Given the description of an element on the screen output the (x, y) to click on. 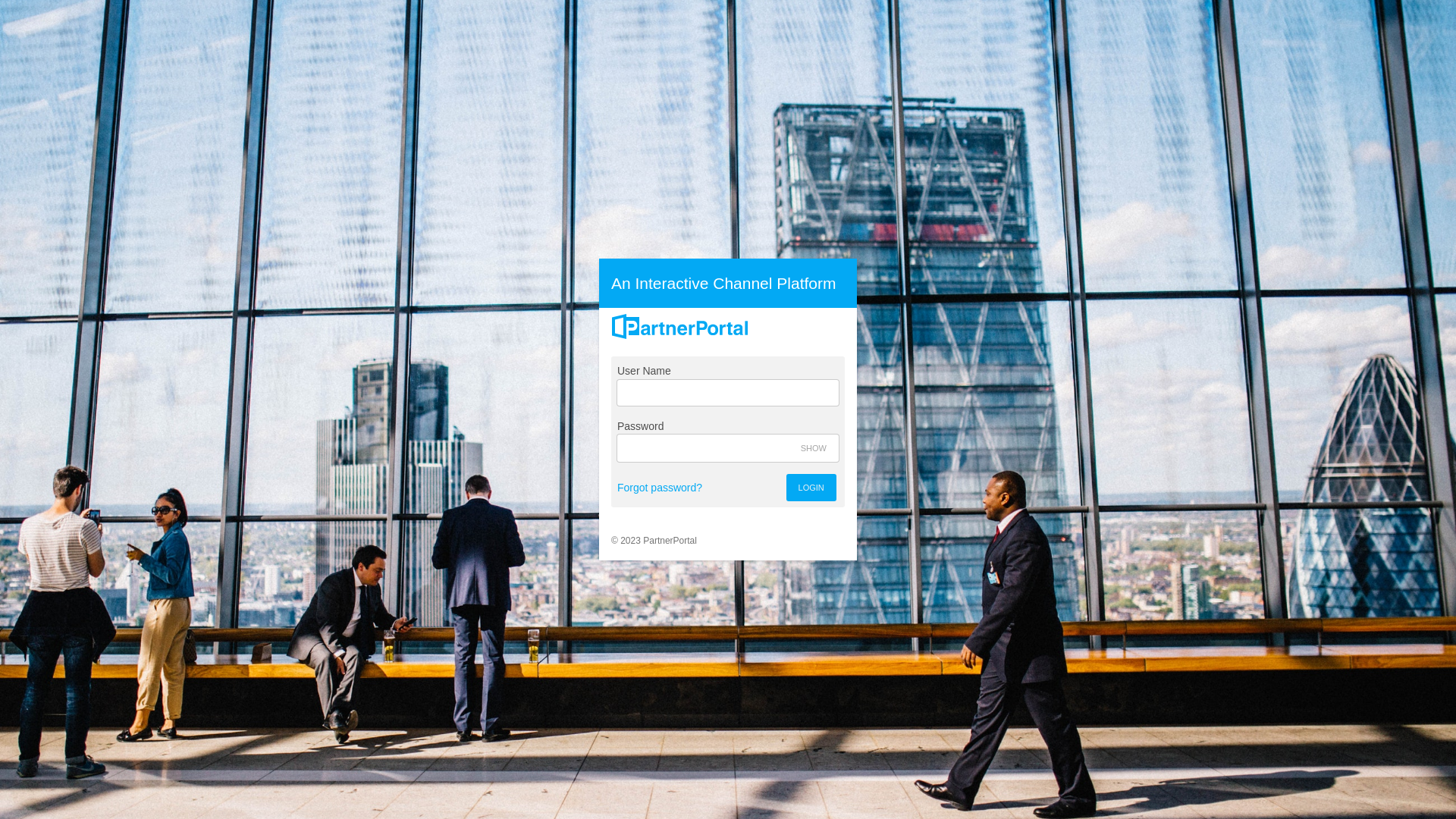
LOGIN Element type: text (811, 487)
Forgot password? Element type: text (659, 487)
